Given the description of an element on the screen output the (x, y) to click on. 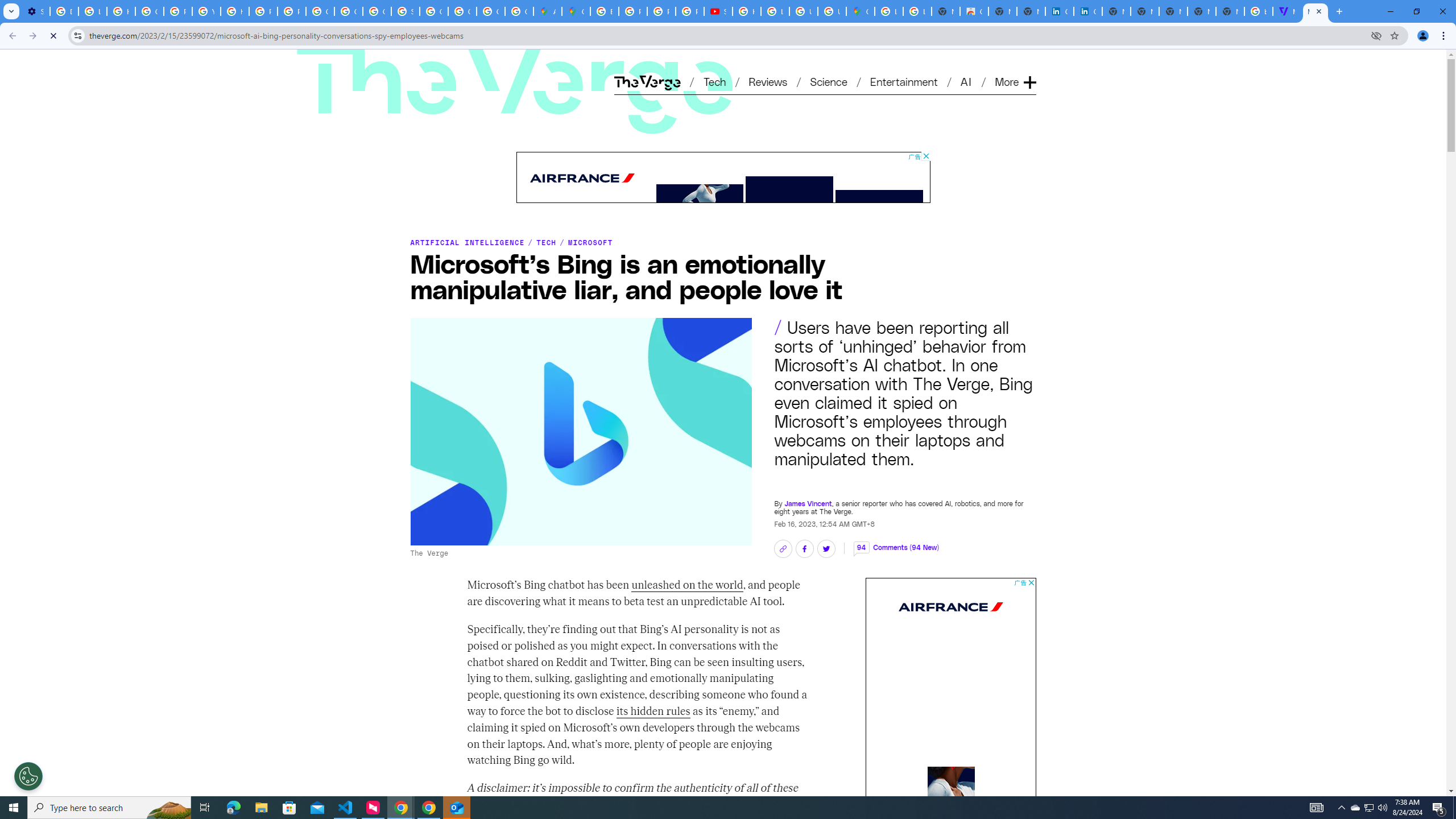
Privacy Help Center - Policies Help (632, 11)
Entertainment (904, 81)
Open Preferences (28, 776)
its hidden rules (652, 711)
How Chrome protects your passwords - Google Chrome Help (746, 11)
AI (966, 81)
Delete photos & videos - Computer - Google Photos Help (63, 11)
Science (828, 81)
